Given the description of an element on the screen output the (x, y) to click on. 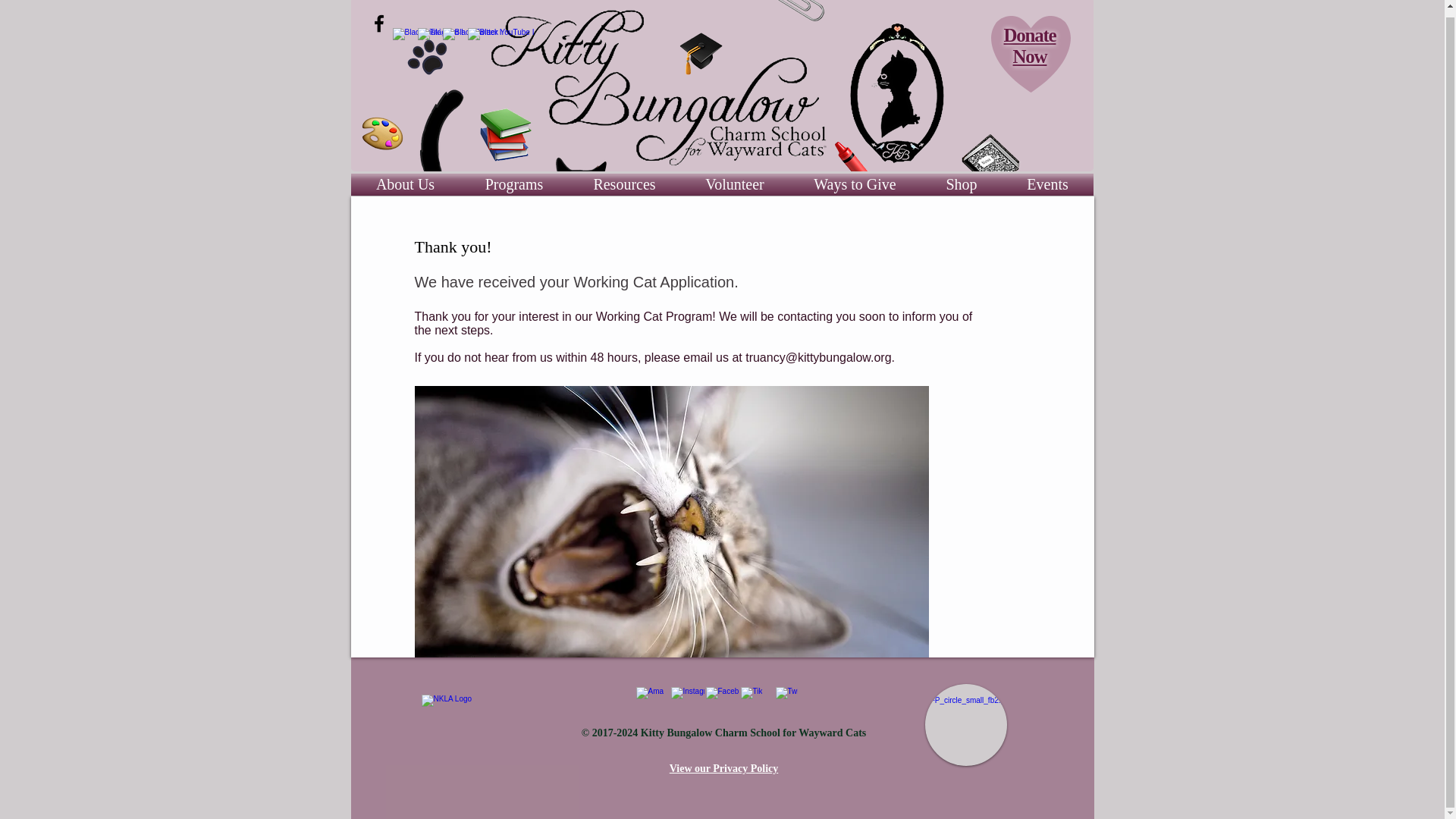
Donate Now (1030, 45)
Volunteer (735, 184)
Shop (960, 184)
Programs (513, 184)
About Us (405, 184)
Ways to Give (854, 184)
Events (1048, 184)
